Given the description of an element on the screen output the (x, y) to click on. 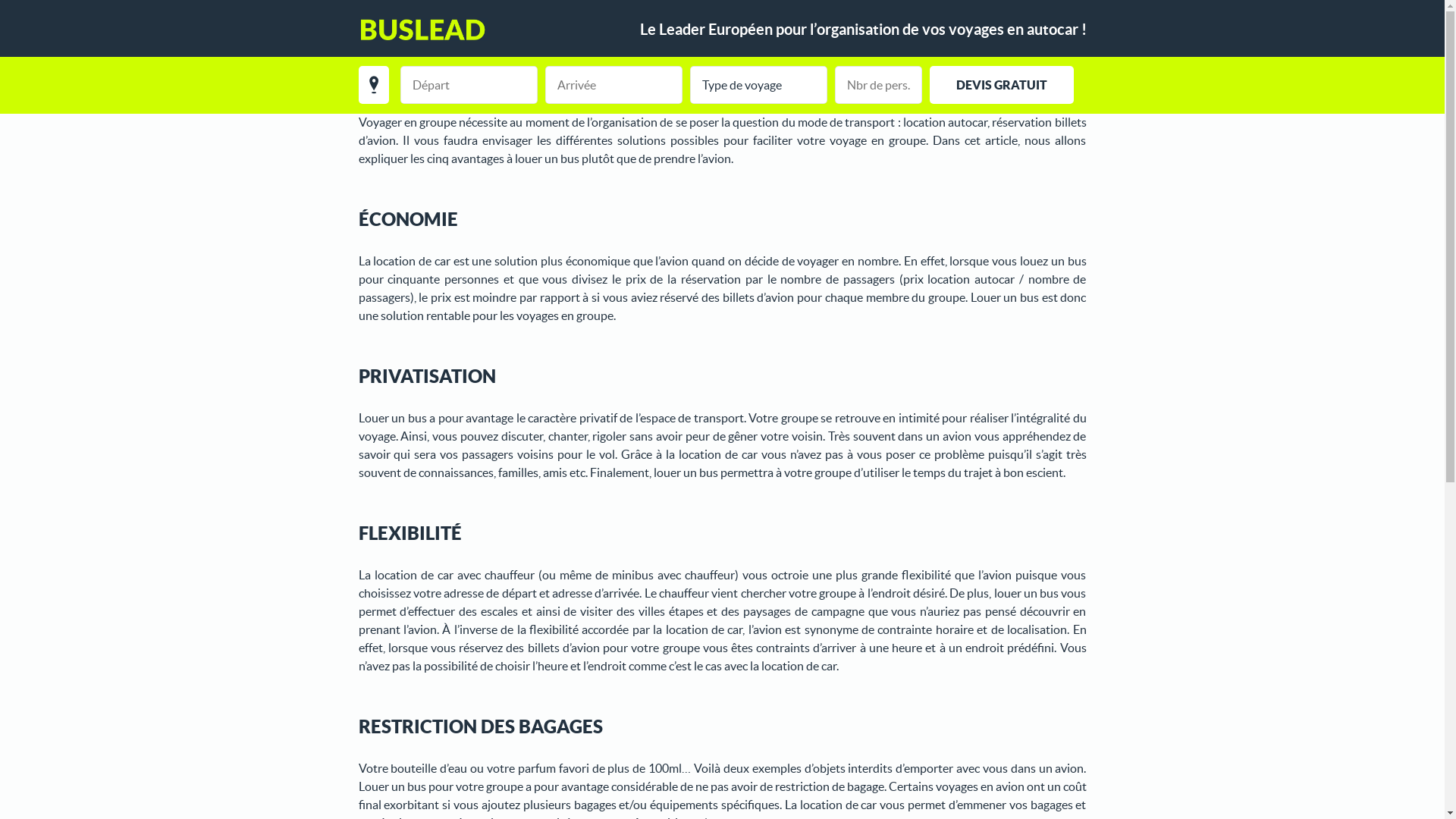
Buslead FR Element type: text (421, 29)
DEVIS GRATUIT Element type: text (1001, 84)
